Given the description of an element on the screen output the (x, y) to click on. 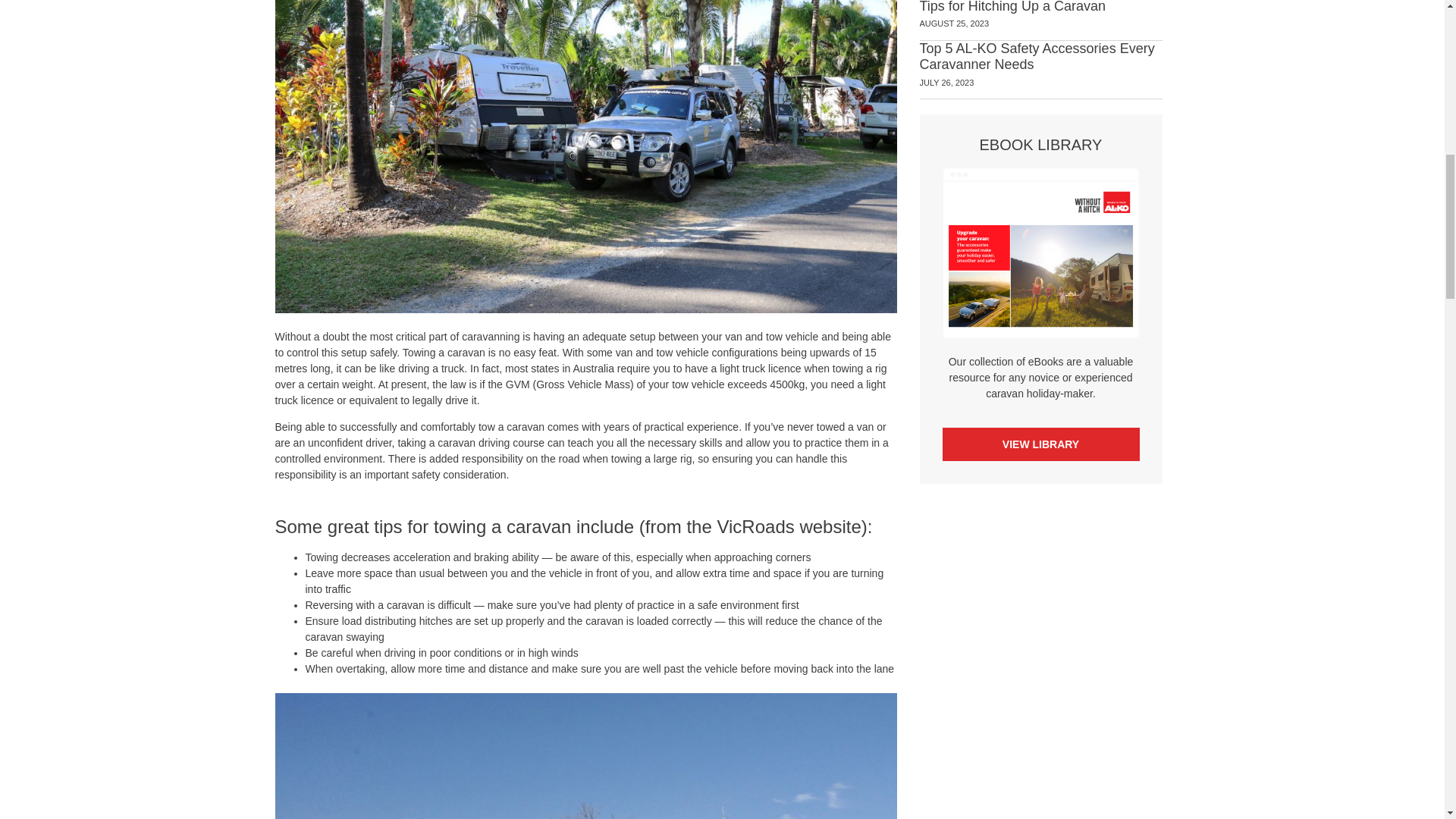
Tips for Hitching Up a Caravan (1011, 6)
